Given the description of an element on the screen output the (x, y) to click on. 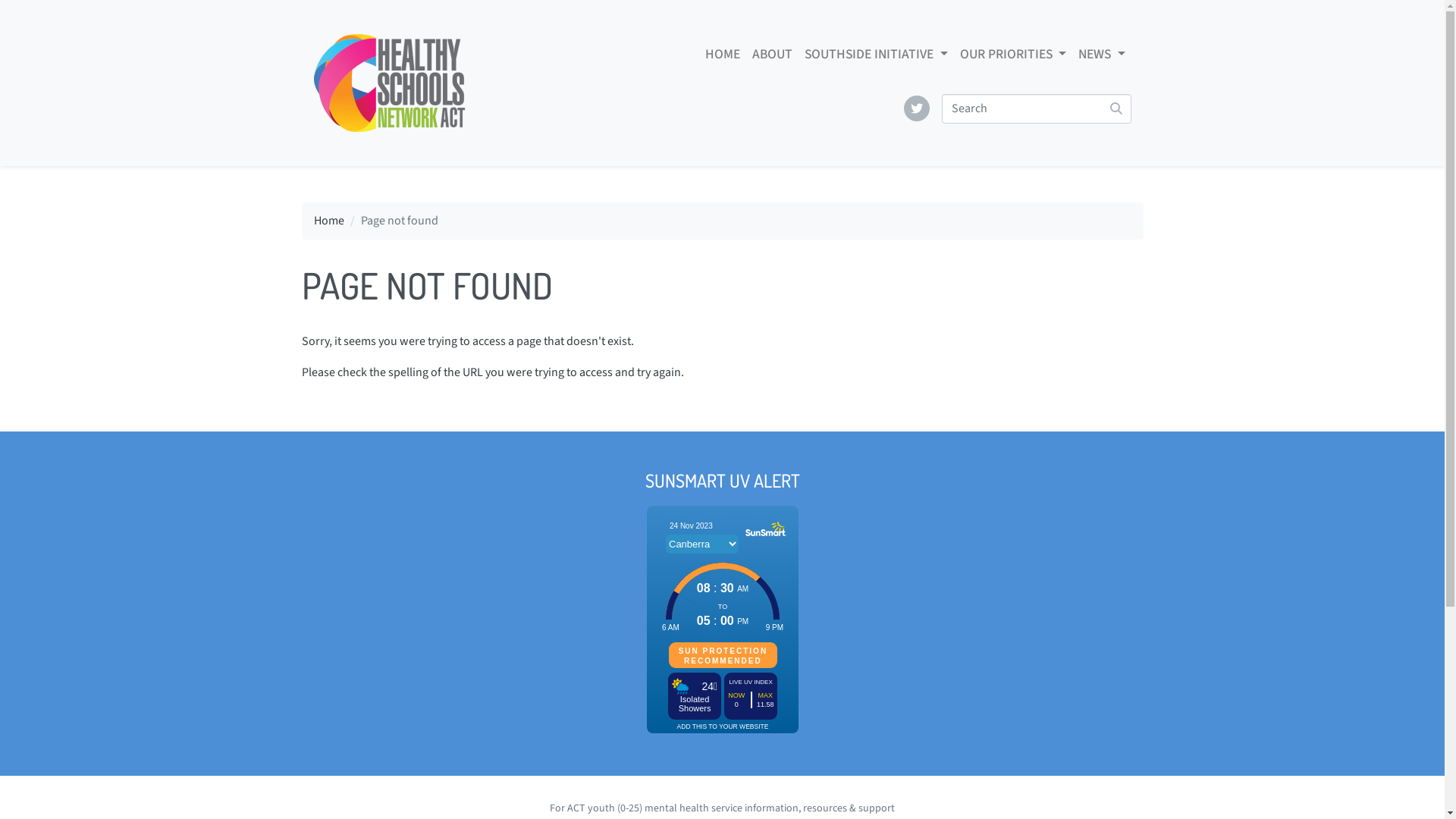
Home Element type: text (328, 220)
Go Element type: text (1114, 109)
SOUTHSIDE INITIATIVE Element type: text (875, 54)
ABOUT Element type: text (772, 54)
HOME Element type: text (722, 54)
NEWS Element type: text (1101, 54)
Follow us on Twitter Element type: hover (916, 108)
Healthy Schools Network ACT Element type: hover (389, 82)
OUR PRIORITIES Element type: text (1012, 54)
